Given the description of an element on the screen output the (x, y) to click on. 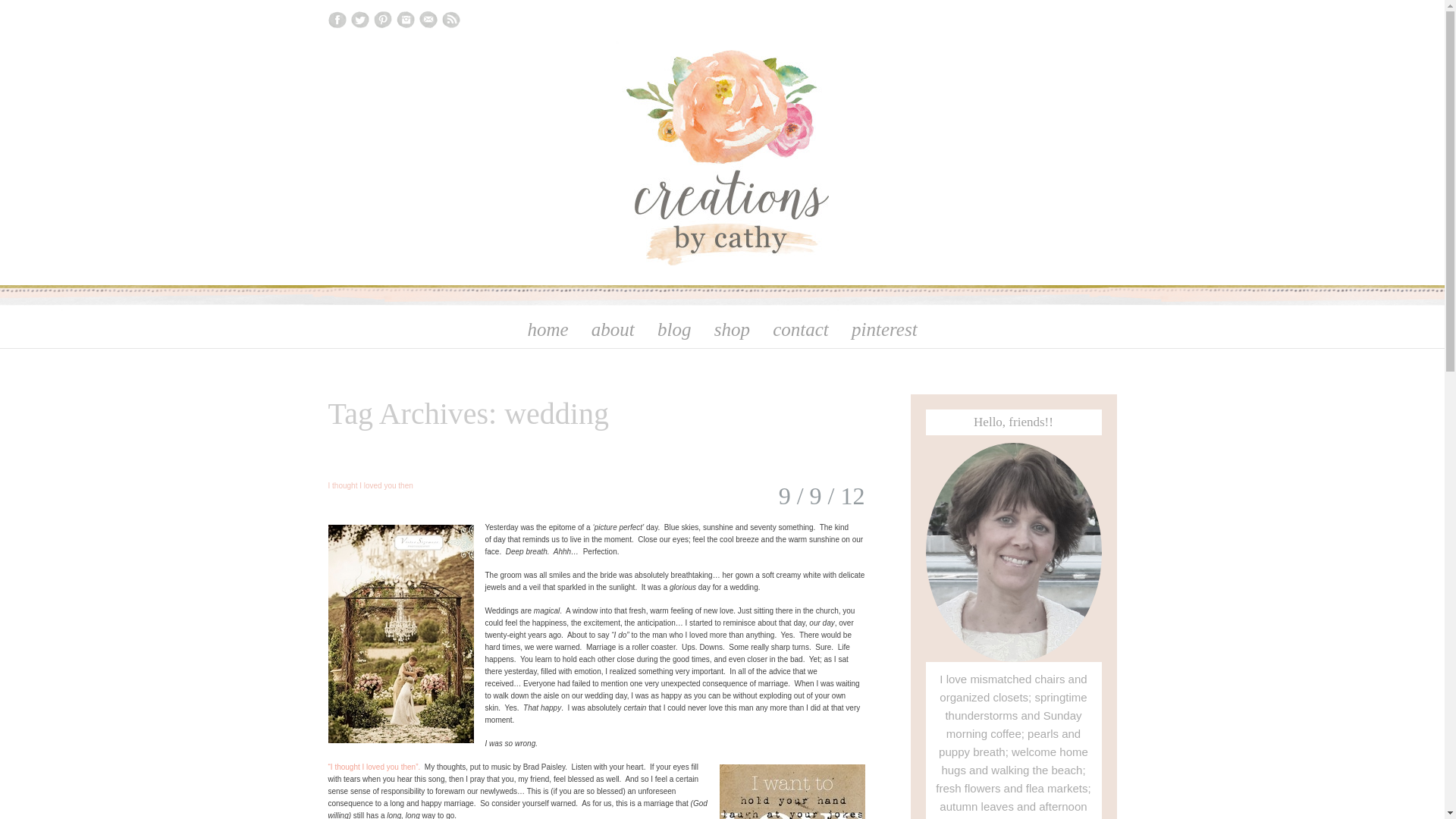
I thought I loved you then (369, 484)
I thought i loved you then (374, 766)
pinterest (884, 329)
Search (29, 14)
home (547, 329)
contact (800, 329)
skip to content (313, 319)
about (612, 329)
blog (673, 329)
shop (731, 329)
